Given the description of an element on the screen output the (x, y) to click on. 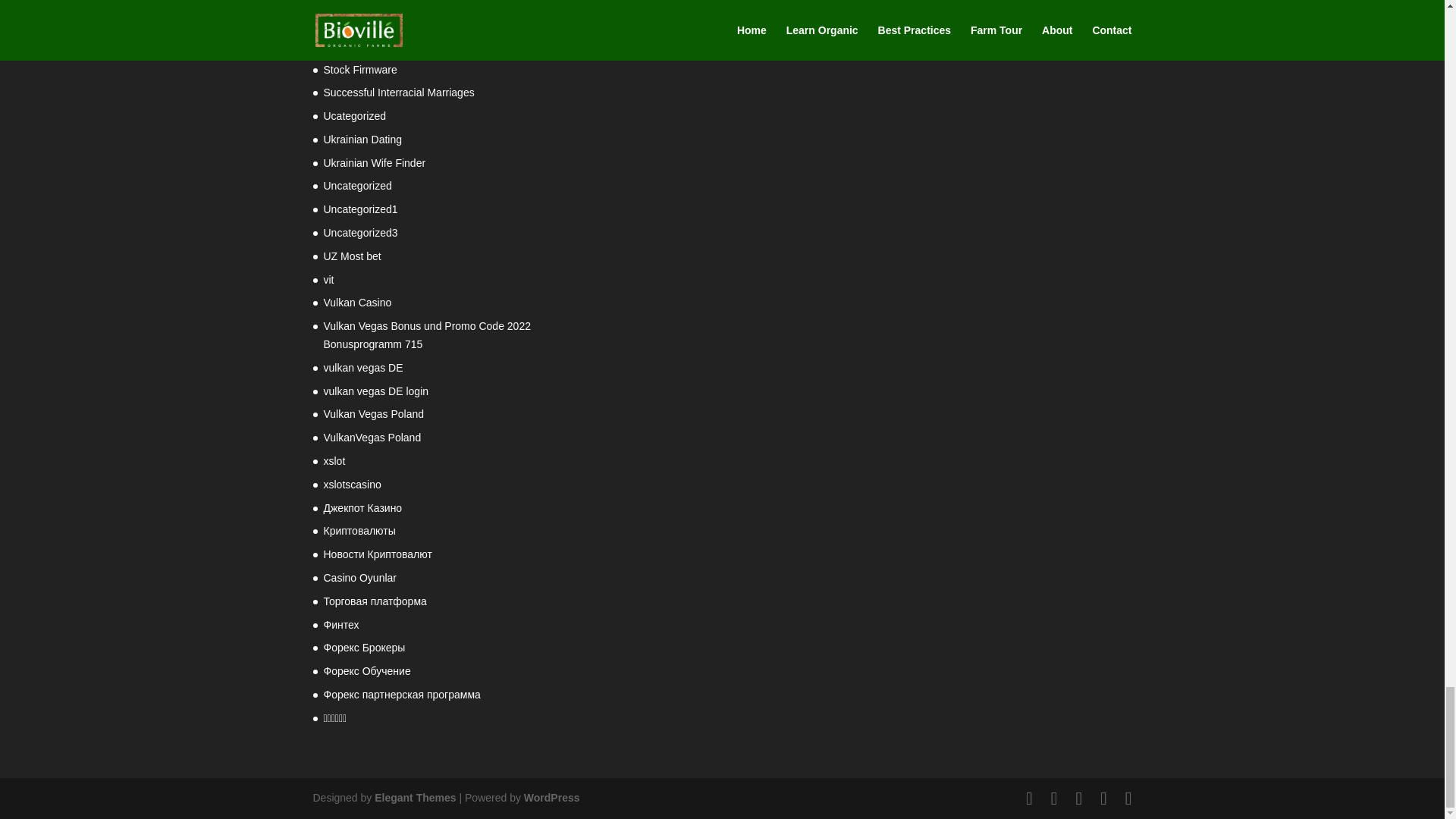
Premium WordPress Themes (414, 797)
